Given the description of an element on the screen output the (x, y) to click on. 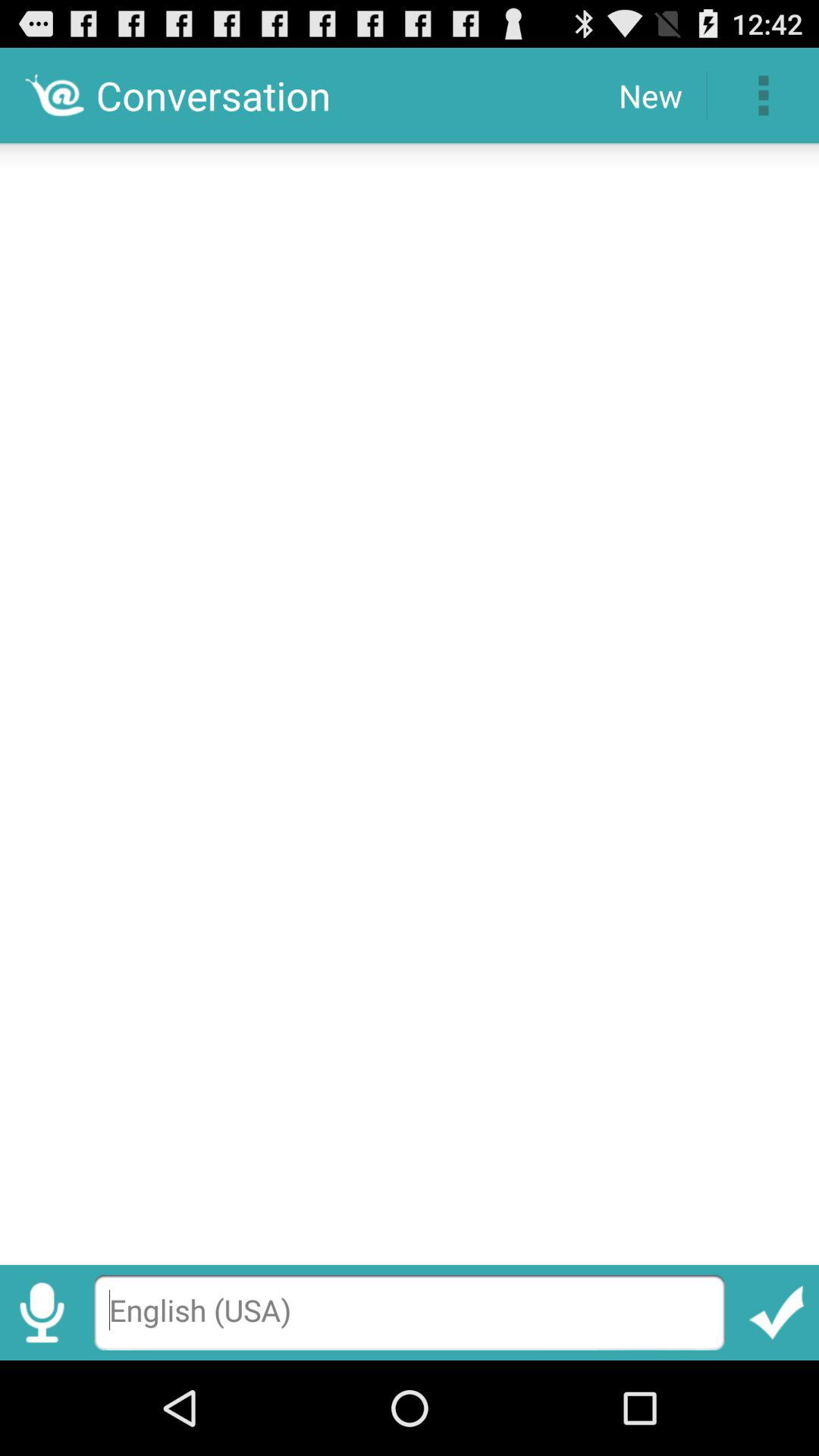
input text (409, 698)
